Given the description of an element on the screen output the (x, y) to click on. 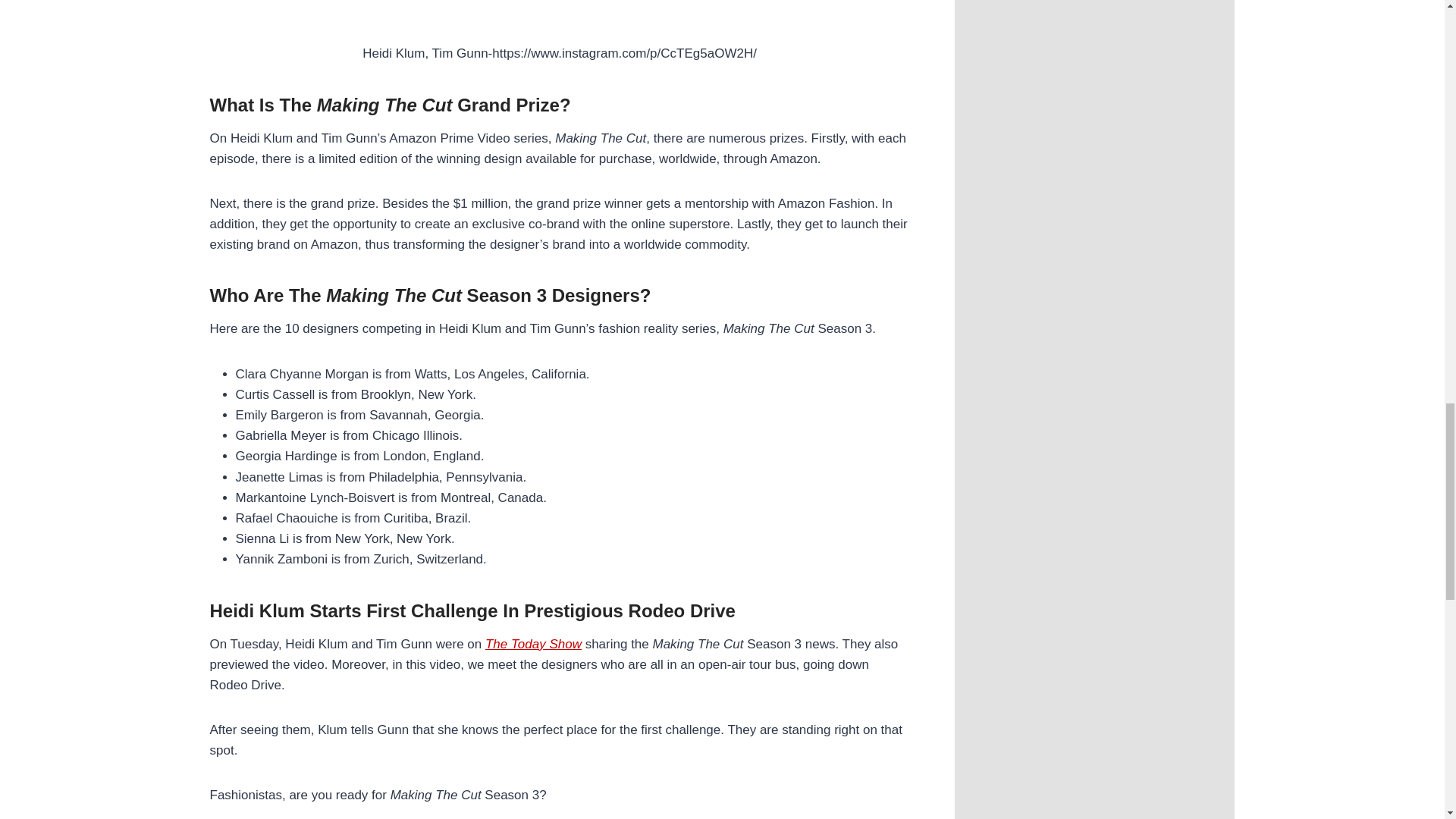
The Today Show (532, 644)
